Given the description of an element on the screen output the (x, y) to click on. 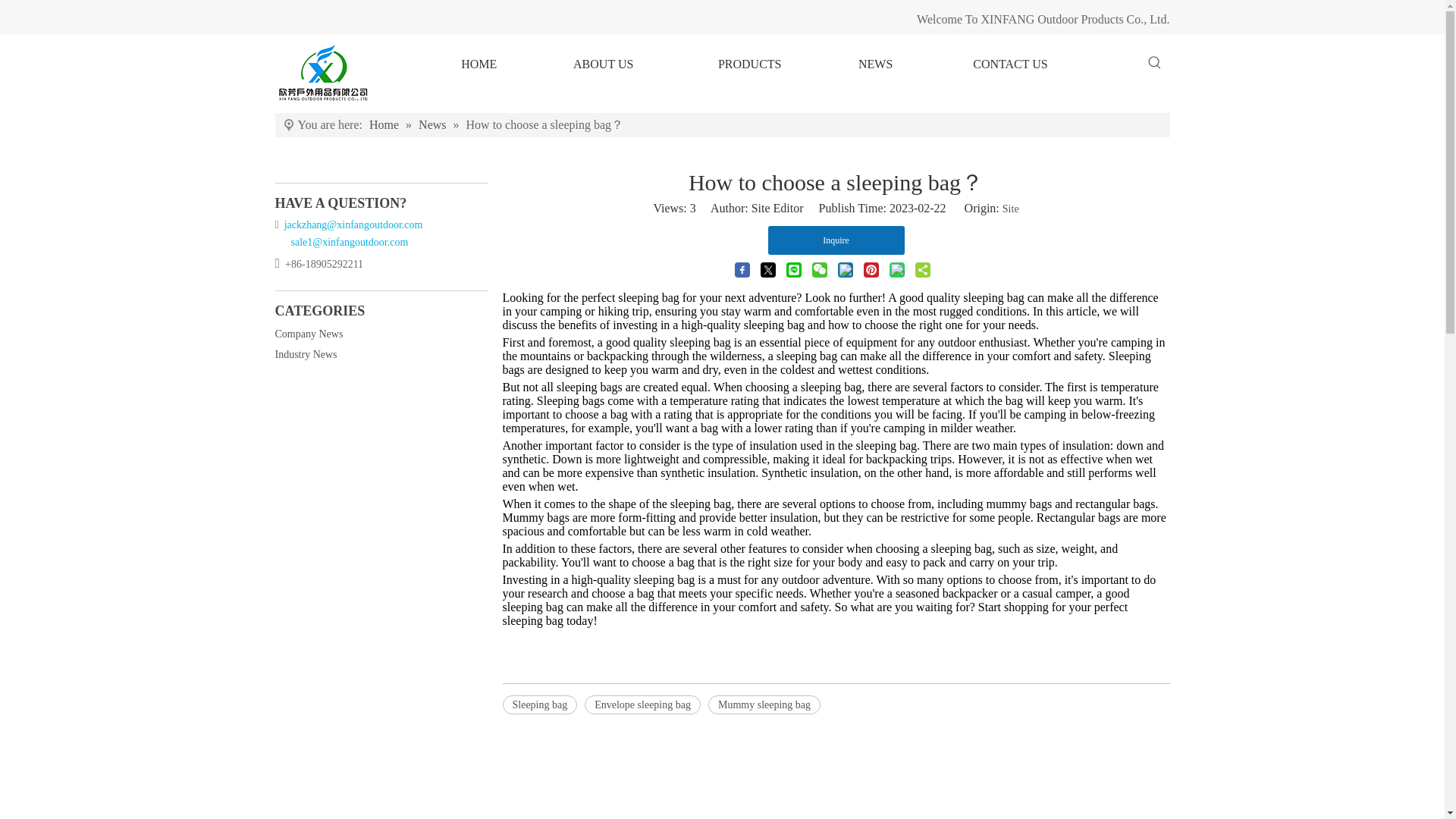
HOME (478, 63)
NEWS (876, 63)
Industry News (305, 354)
ABOUT US (604, 63)
Mummy sleeping bag (764, 704)
Company News (308, 333)
Sleeping bag (539, 704)
Xingfang (323, 73)
PRODUCTS (749, 63)
CONTACT US (1010, 63)
